Given the description of an element on the screen output the (x, y) to click on. 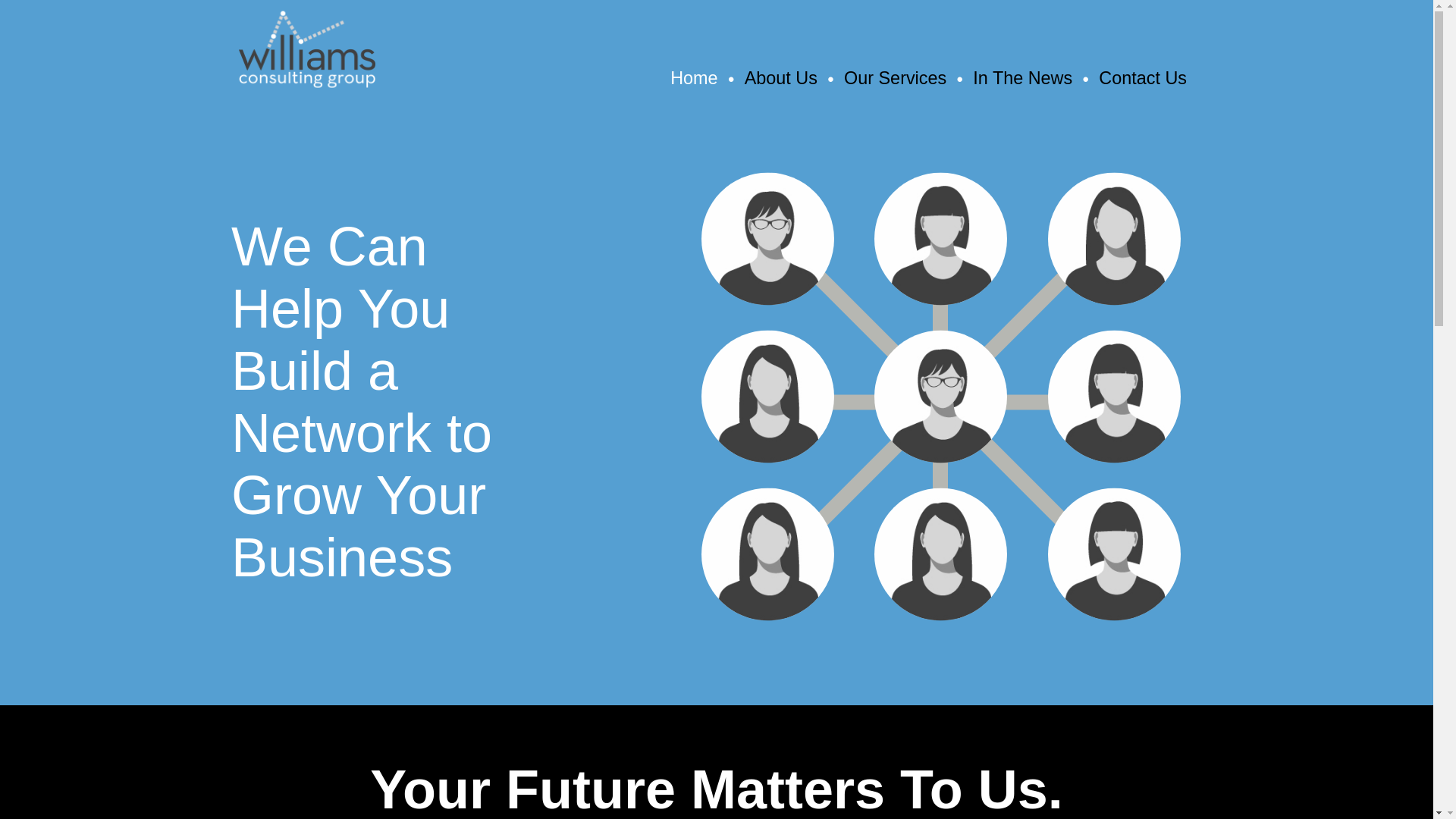
About Us (780, 77)
Our Services (895, 77)
Home (693, 77)
Contact Us (1142, 77)
In The News (1021, 77)
